Given the description of an element on the screen output the (x, y) to click on. 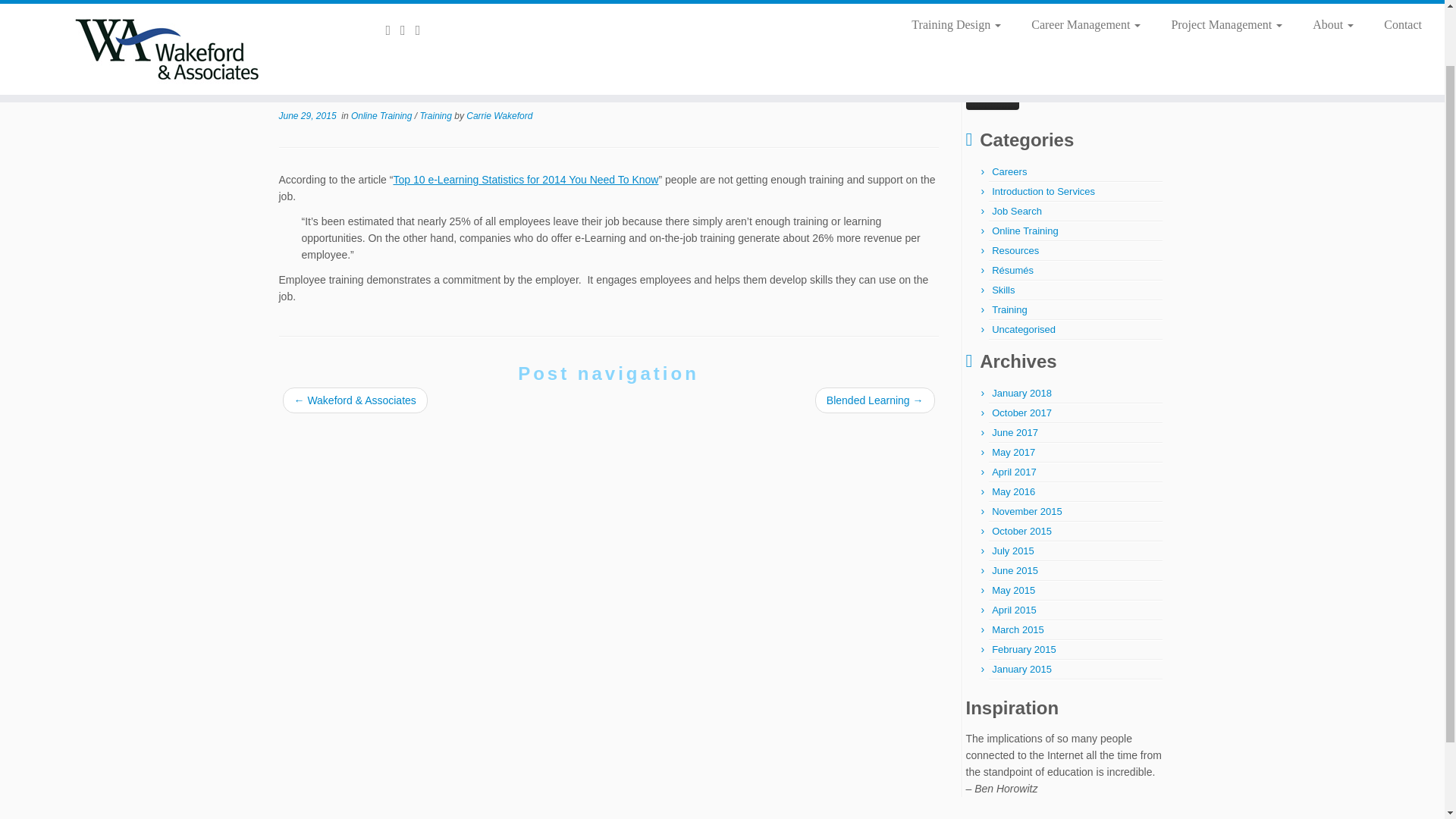
Uncategorised (1023, 328)
12:00 pm (307, 115)
Training (337, 38)
Online Training (403, 38)
Top 10 e-Learning Statistics for 2014 You Need To Know (525, 179)
Training (337, 38)
Training (1008, 309)
Online Training (1024, 230)
Home (293, 38)
Job Search (1016, 211)
Search (992, 97)
Online Training (403, 38)
Search (992, 97)
View all posts by Carrie Wakeford (498, 115)
View all posts in Training (436, 115)
